Given the description of an element on the screen output the (x, y) to click on. 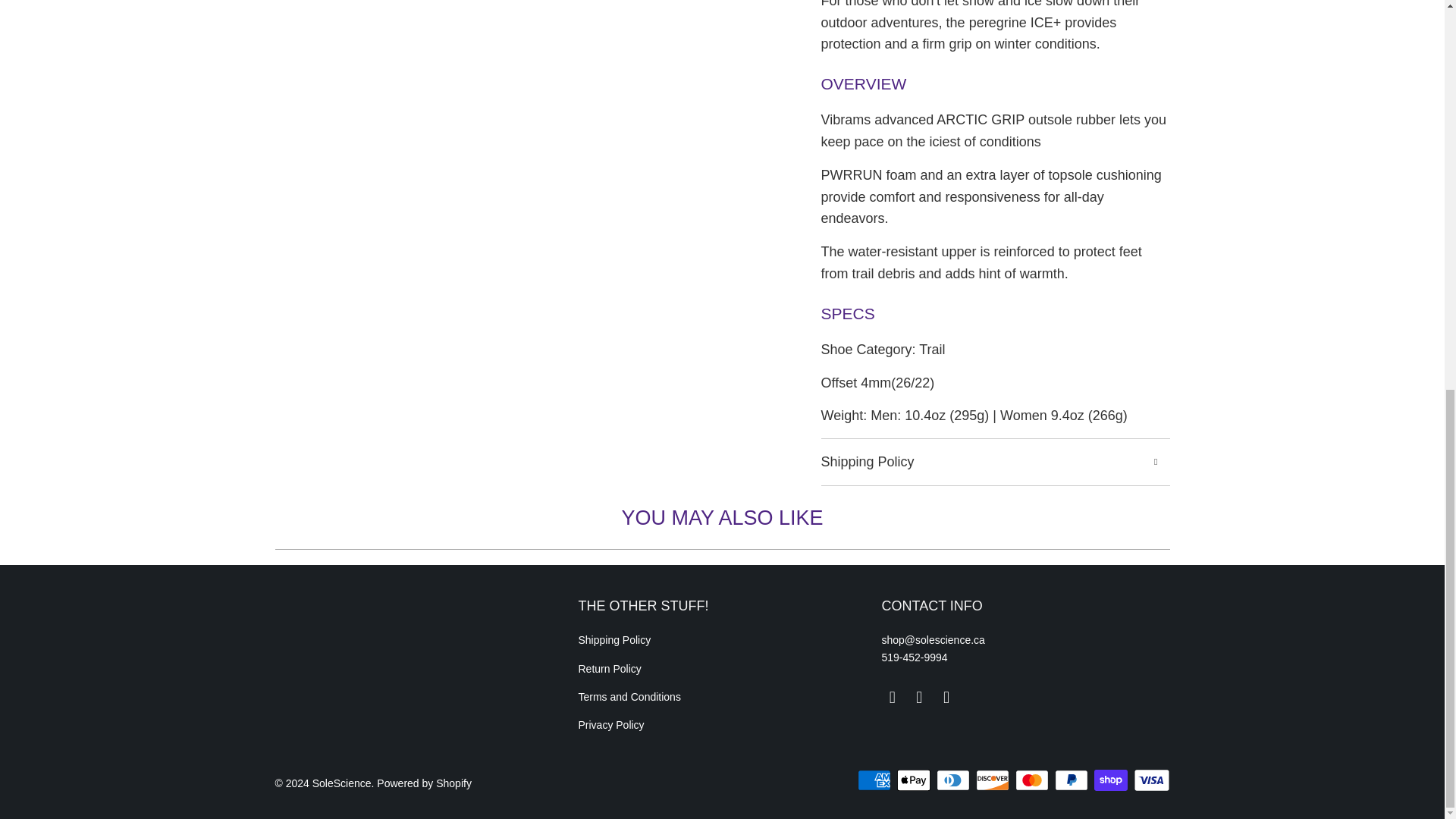
Terms of Service (628, 696)
Privacy Policy (610, 725)
SoleScience on Instagram (947, 697)
Mastercard (1032, 780)
Shop Pay (1112, 780)
Visa (1150, 780)
American Express (875, 780)
PayPal (1072, 780)
Diners Club (954, 780)
Apple Pay (914, 780)
